Given the description of an element on the screen output the (x, y) to click on. 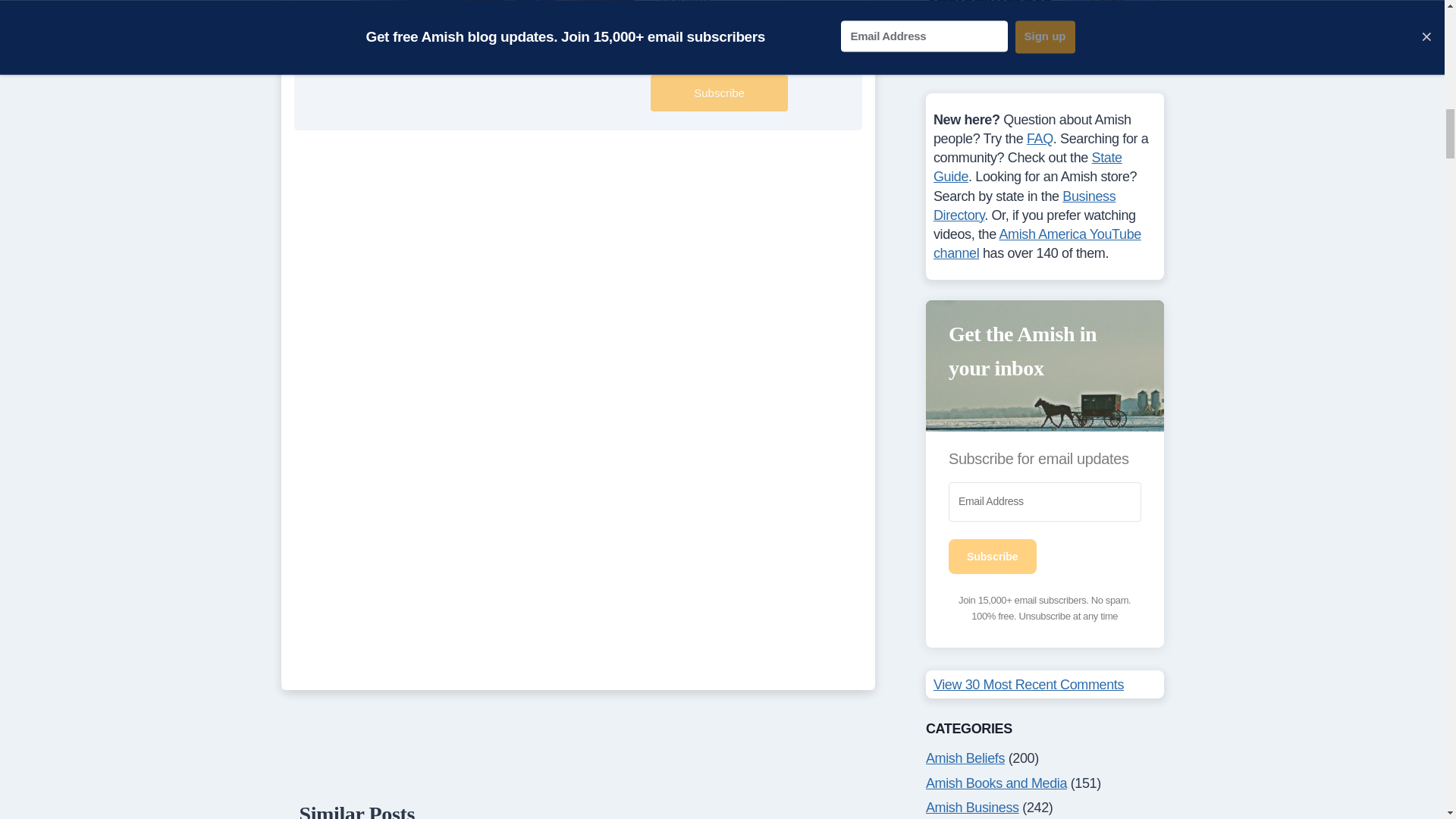
Subscribe (718, 93)
